Given the description of an element on the screen output the (x, y) to click on. 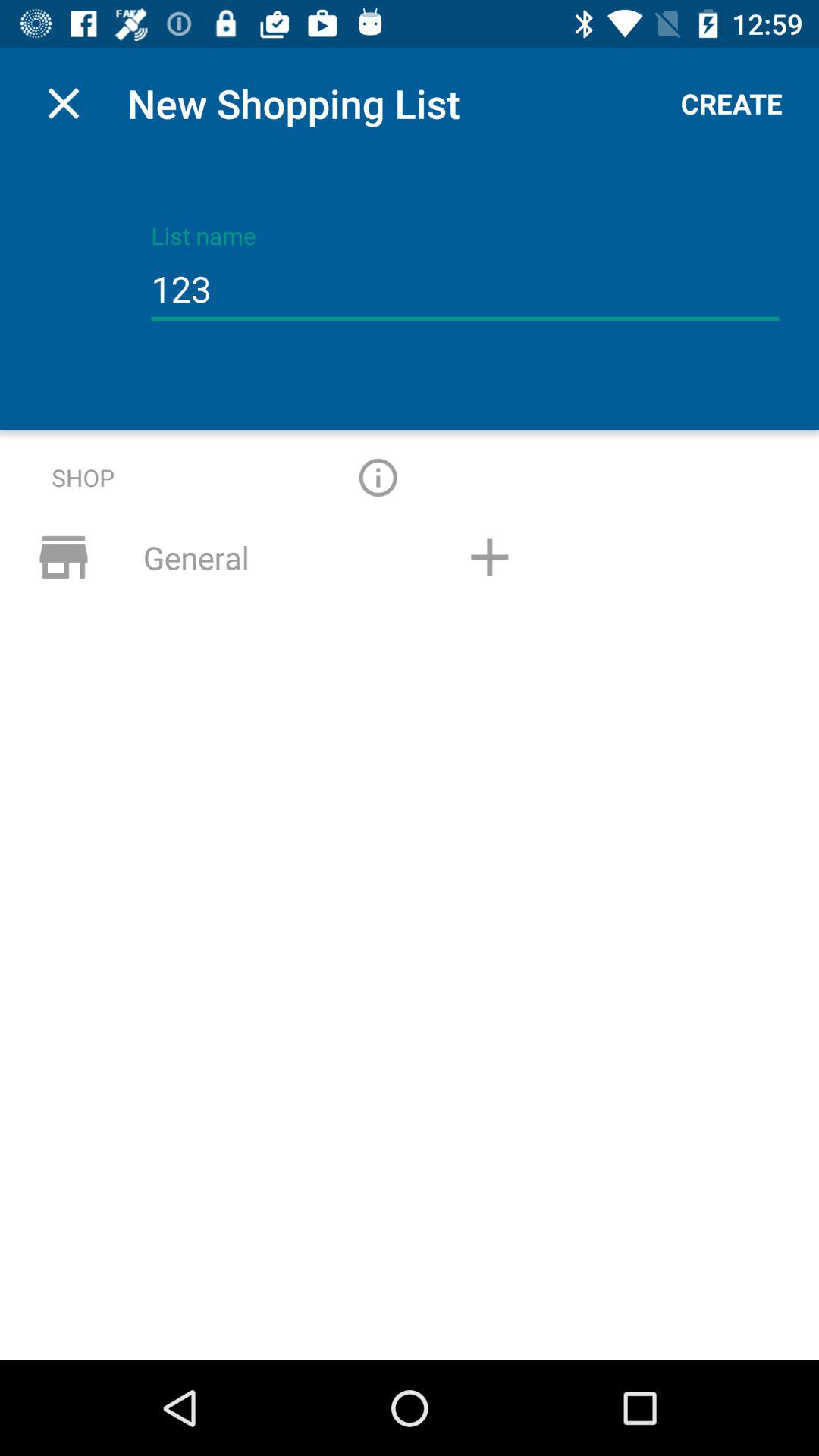
add list (489, 557)
